Given the description of an element on the screen output the (x, y) to click on. 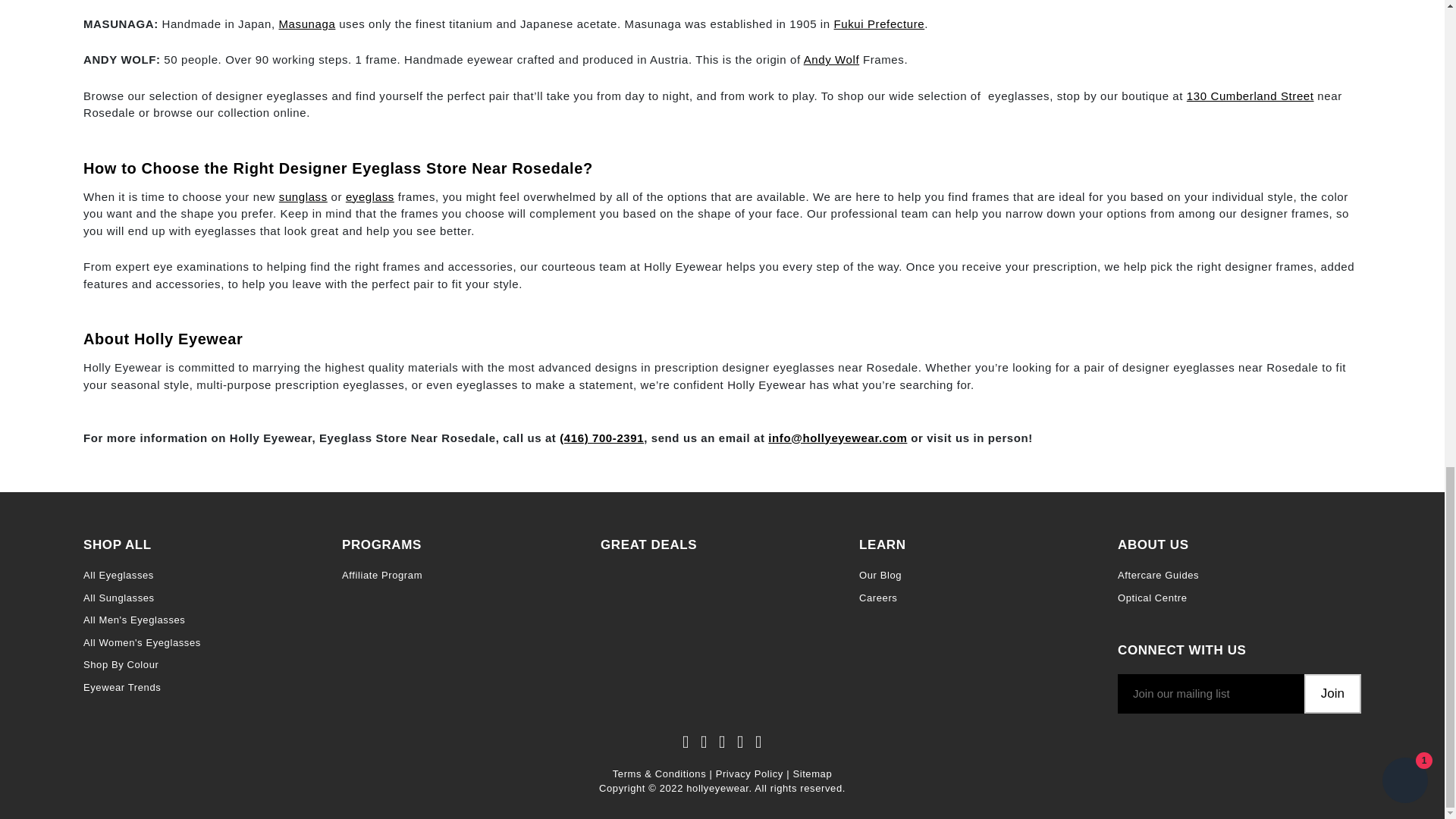
Join (1332, 694)
